Given the description of an element on the screen output the (x, y) to click on. 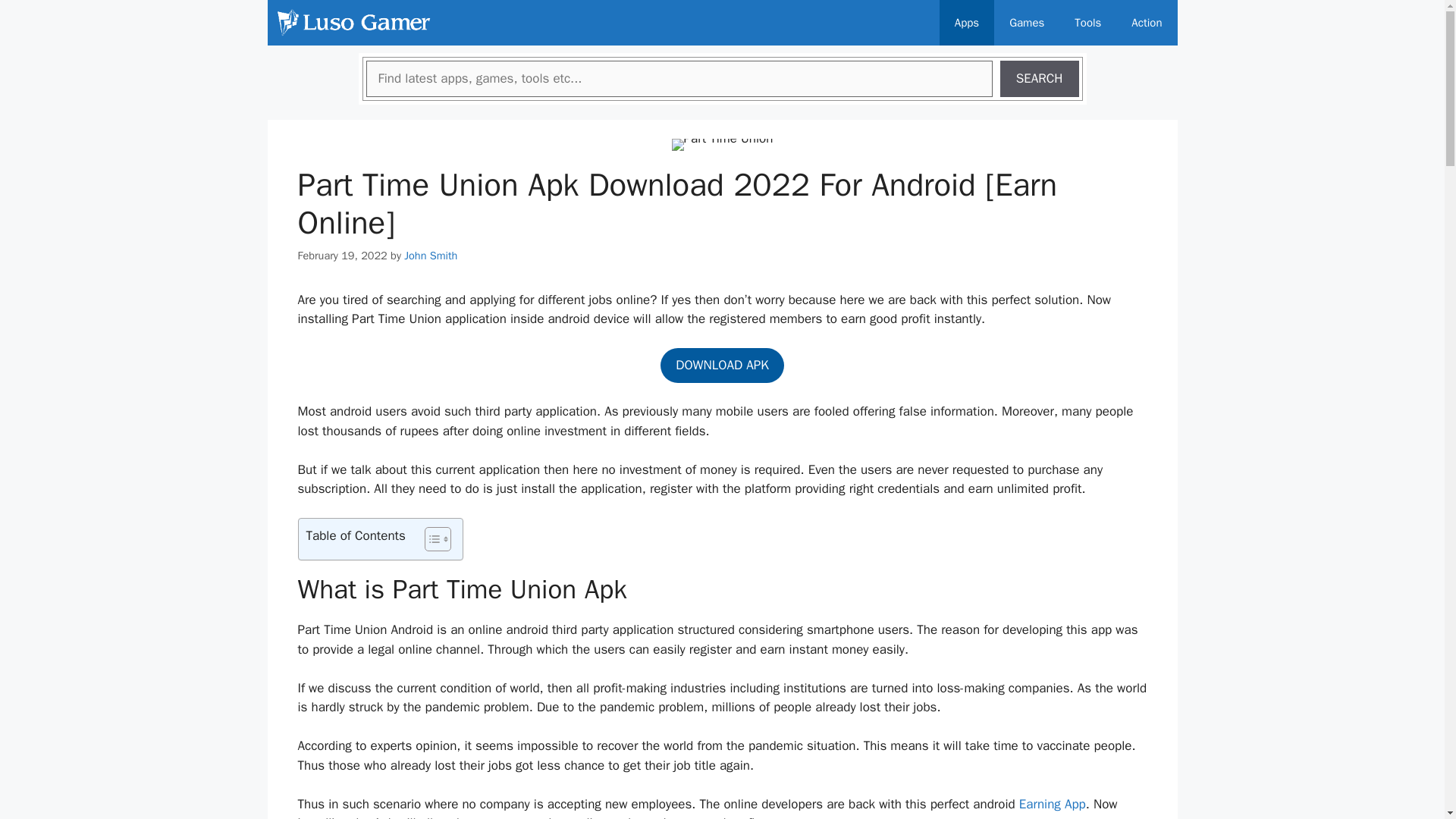
SEARCH (1039, 78)
John Smith (430, 255)
DOWNLOAD APK (722, 365)
Earning App (1052, 804)
Apps (966, 22)
View all posts by John Smith (430, 255)
Tools (1087, 22)
Luso Gamer (353, 22)
Games (1026, 22)
Action (1146, 22)
